Given the description of an element on the screen output the (x, y) to click on. 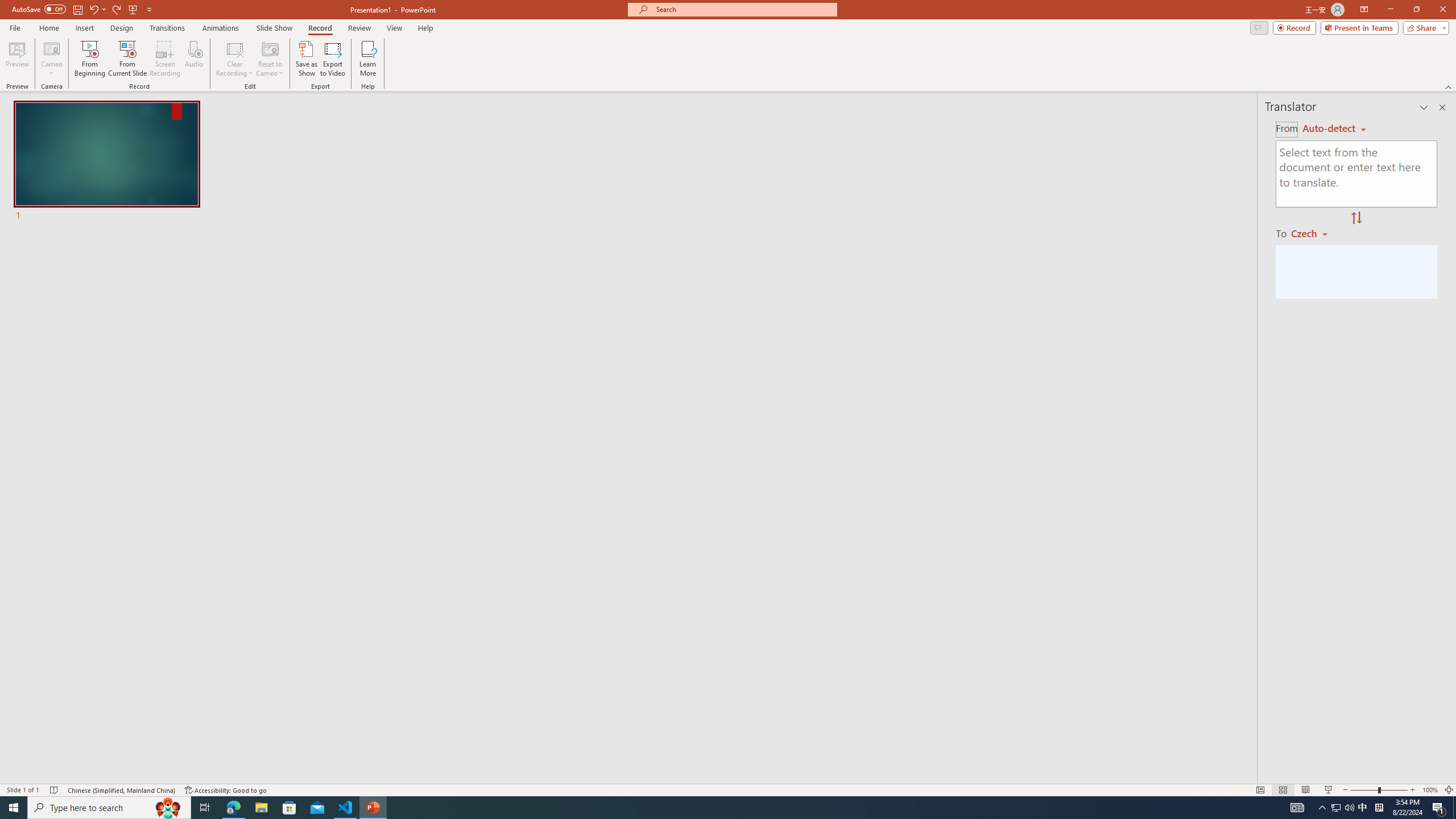
From Beginning... (89, 58)
Export to Video (332, 58)
